Given the description of an element on the screen output the (x, y) to click on. 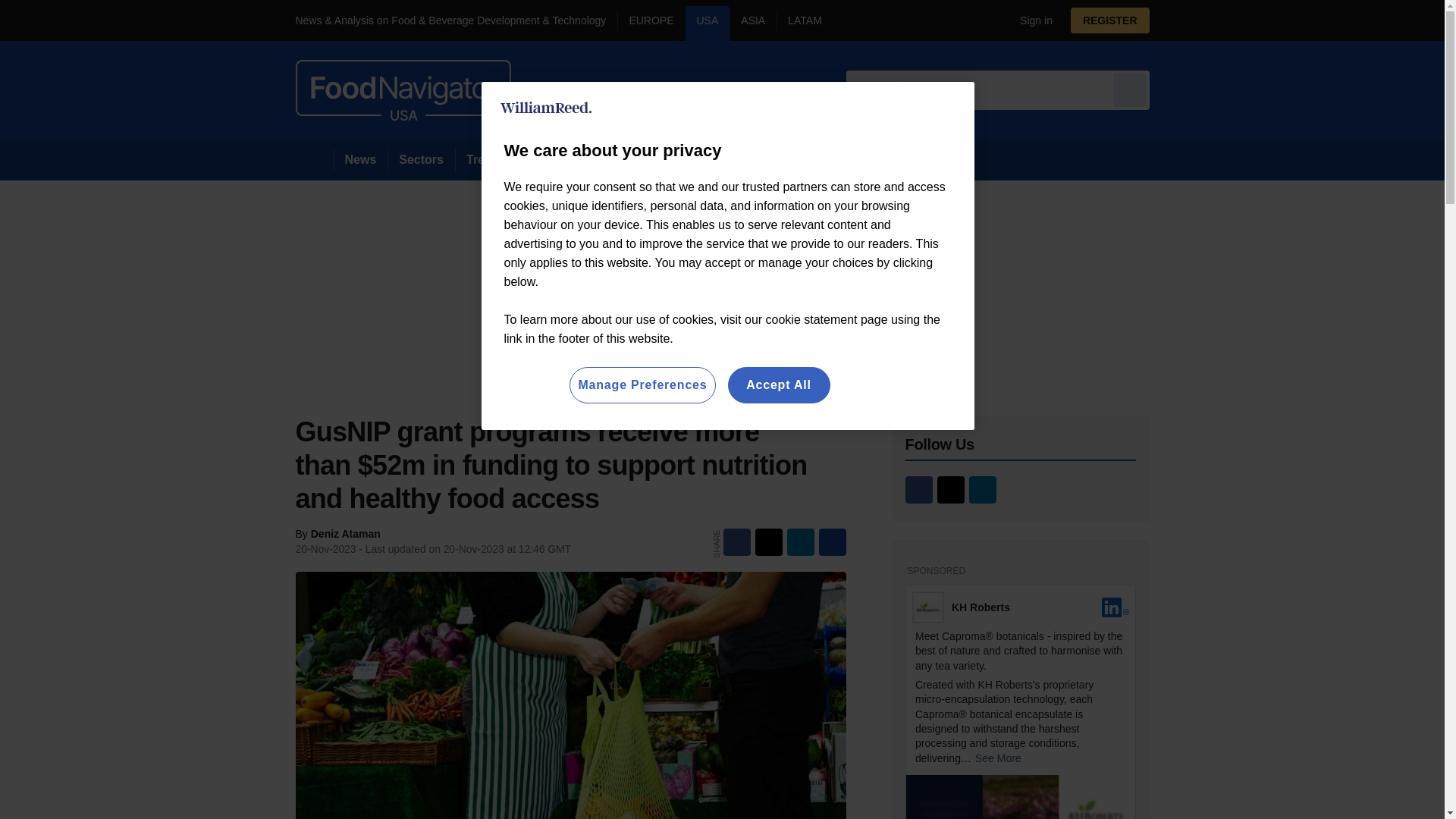
William Reed (545, 107)
LATAM (804, 22)
Sign in (1029, 20)
Home (314, 159)
Send (1129, 90)
FoodNavigator USA (403, 89)
REGISTER (1110, 20)
USA (707, 22)
Sectors (420, 159)
ASIA (752, 22)
My account (1114, 20)
Sign out (1032, 20)
EUROPE (650, 22)
Home (313, 159)
